Given the description of an element on the screen output the (x, y) to click on. 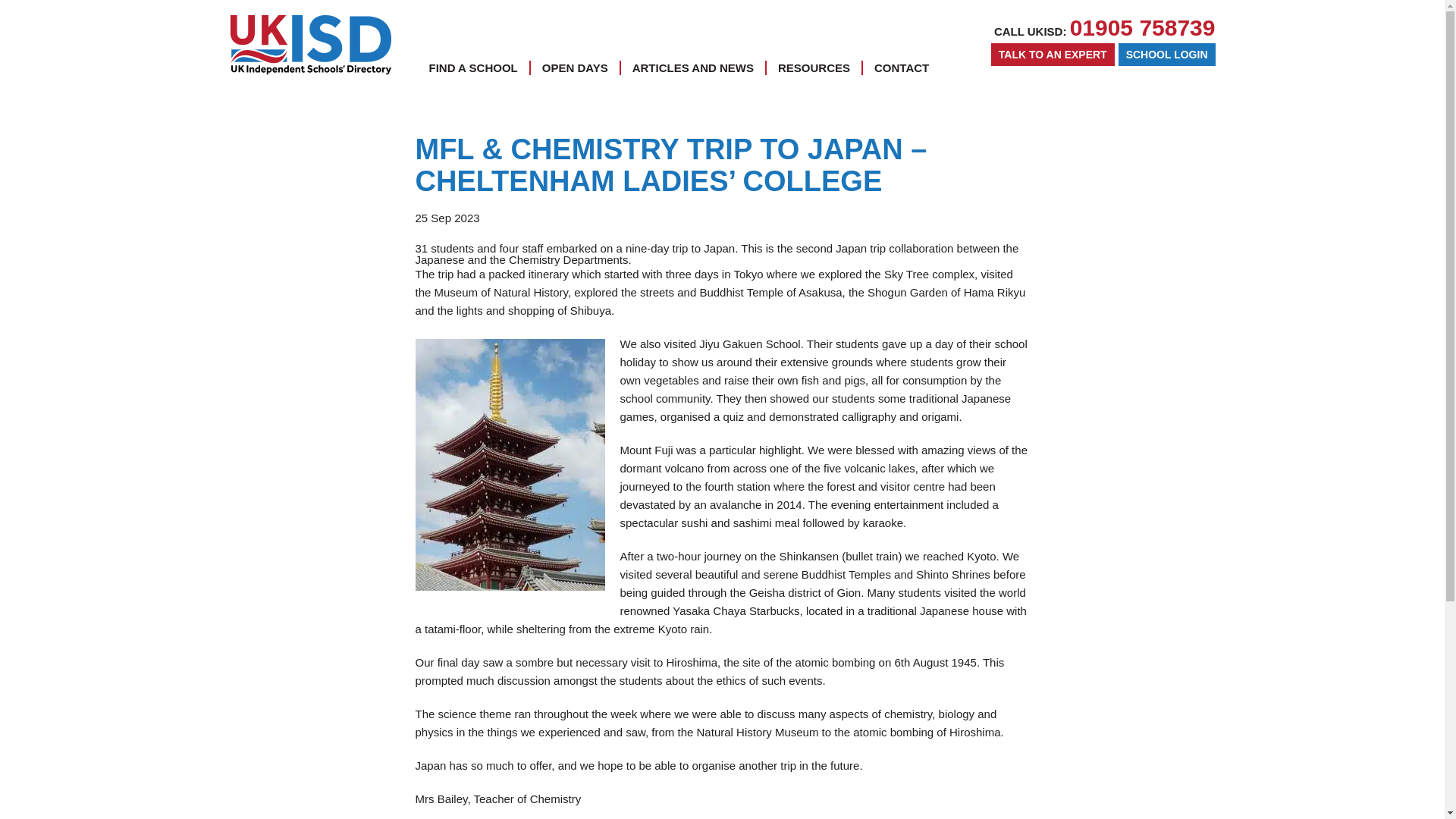
FIND A SCHOOL (473, 67)
ARTICLES AND NEWS (692, 67)
01905 758739 (1142, 27)
TALK TO AN EXPERT (1053, 54)
RESOURCES (813, 67)
CONTACT (901, 67)
OPEN DAYS (574, 67)
SCHOOL LOGIN (1166, 54)
